Given the description of an element on the screen output the (x, y) to click on. 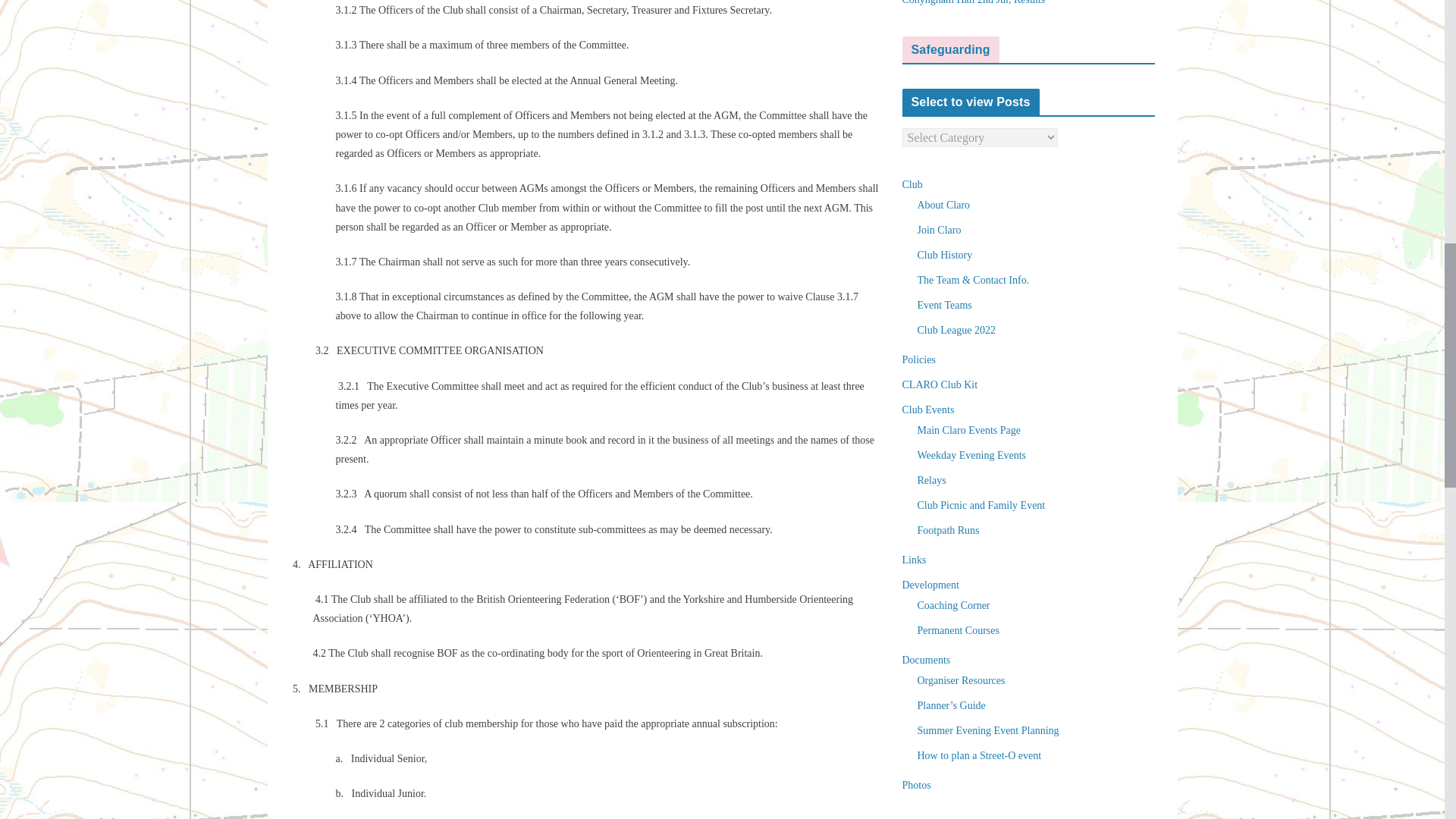
Event Teams (944, 305)
Safeguarding (950, 49)
Relays (931, 480)
About Claro (944, 204)
Weekday Evening Events (971, 455)
Club Events (928, 409)
Club History (944, 255)
Club (912, 184)
Conyngham Hall 2nd Jul, Results (973, 2)
Main Claro Events Page (968, 430)
